Given the description of an element on the screen output the (x, y) to click on. 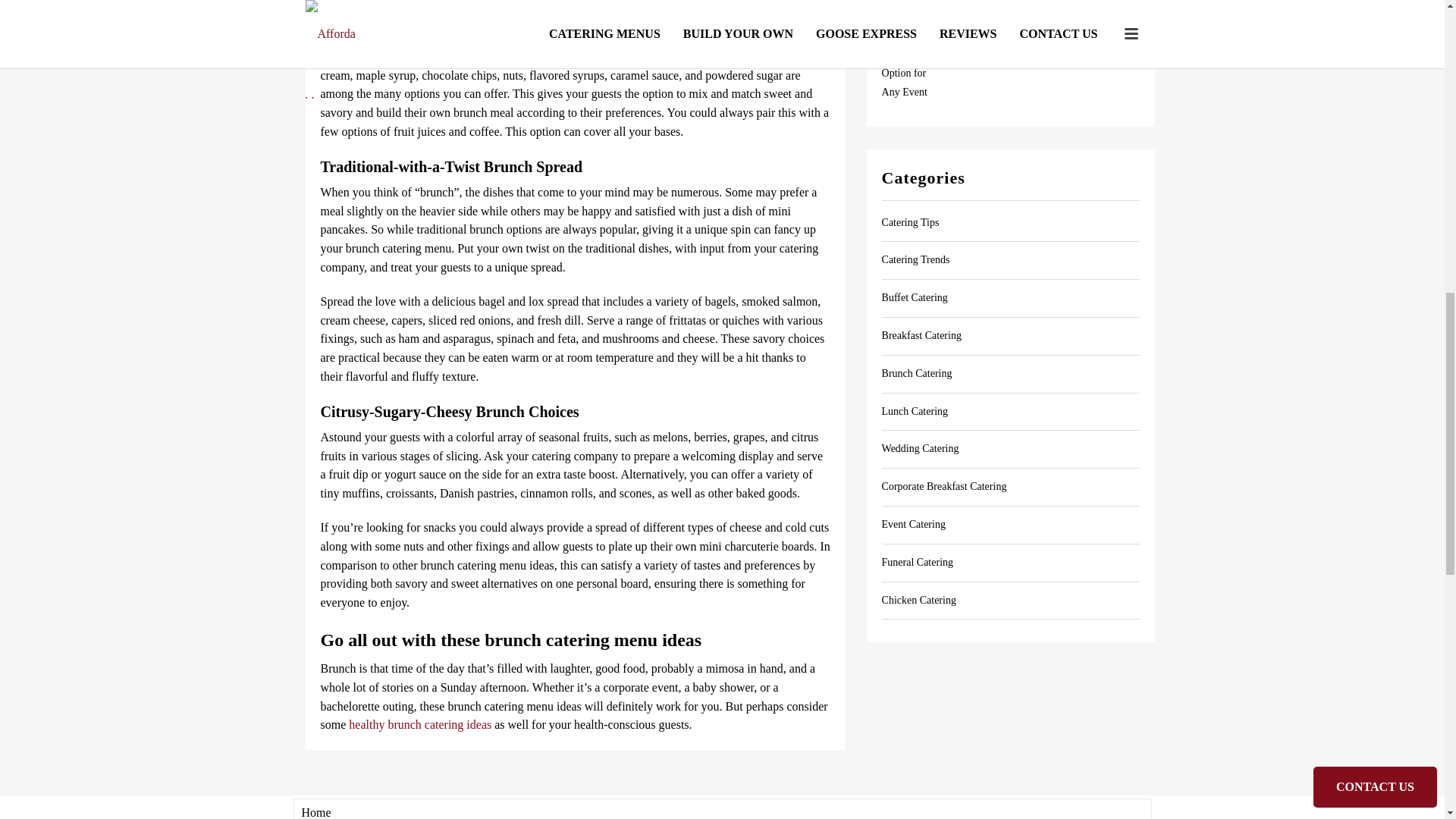
Why BBQ Catering is a Great Menu Option for Any Event (912, 55)
